Given the description of an element on the screen output the (x, y) to click on. 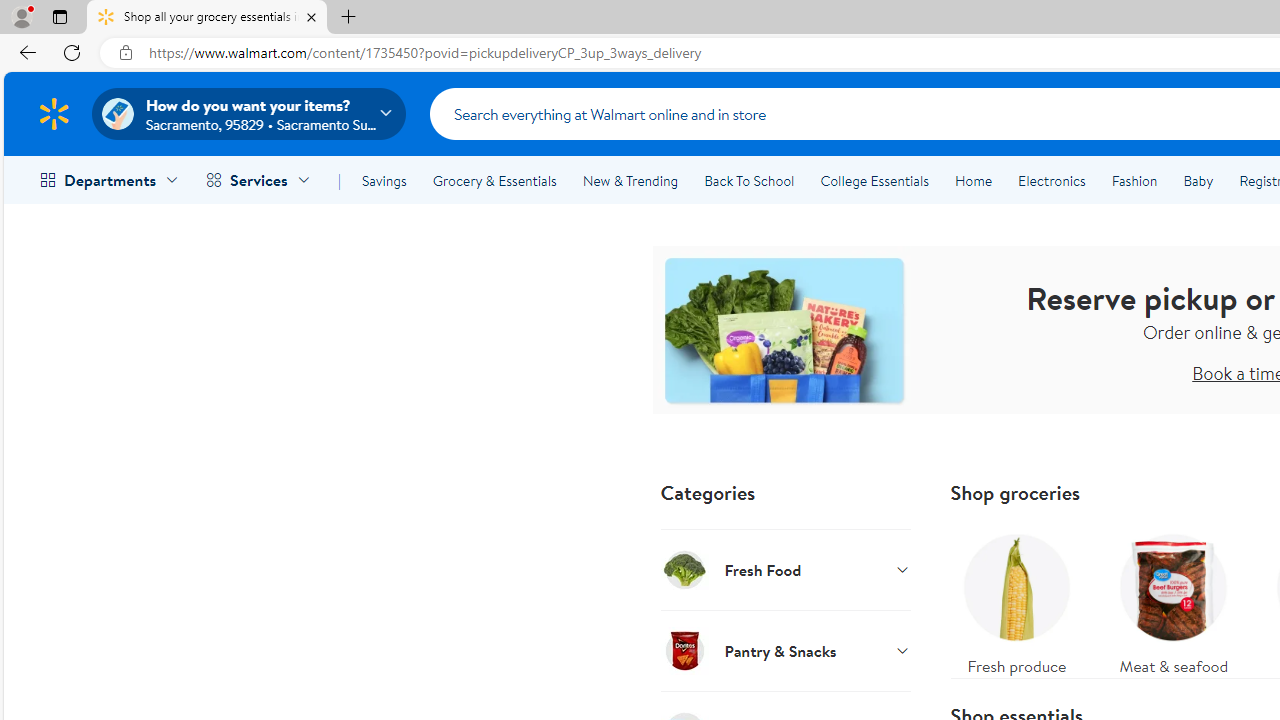
Electronics (1051, 180)
Baby (1197, 180)
New & Trending (630, 180)
Fresh produce (1016, 599)
Meat & seafood (1174, 599)
College Essentials (874, 180)
Refresh (72, 52)
Tab actions menu (59, 16)
Savings (384, 180)
College Essentials (874, 180)
New Tab (349, 17)
Grocery & Essentials (493, 180)
